Given the description of an element on the screen output the (x, y) to click on. 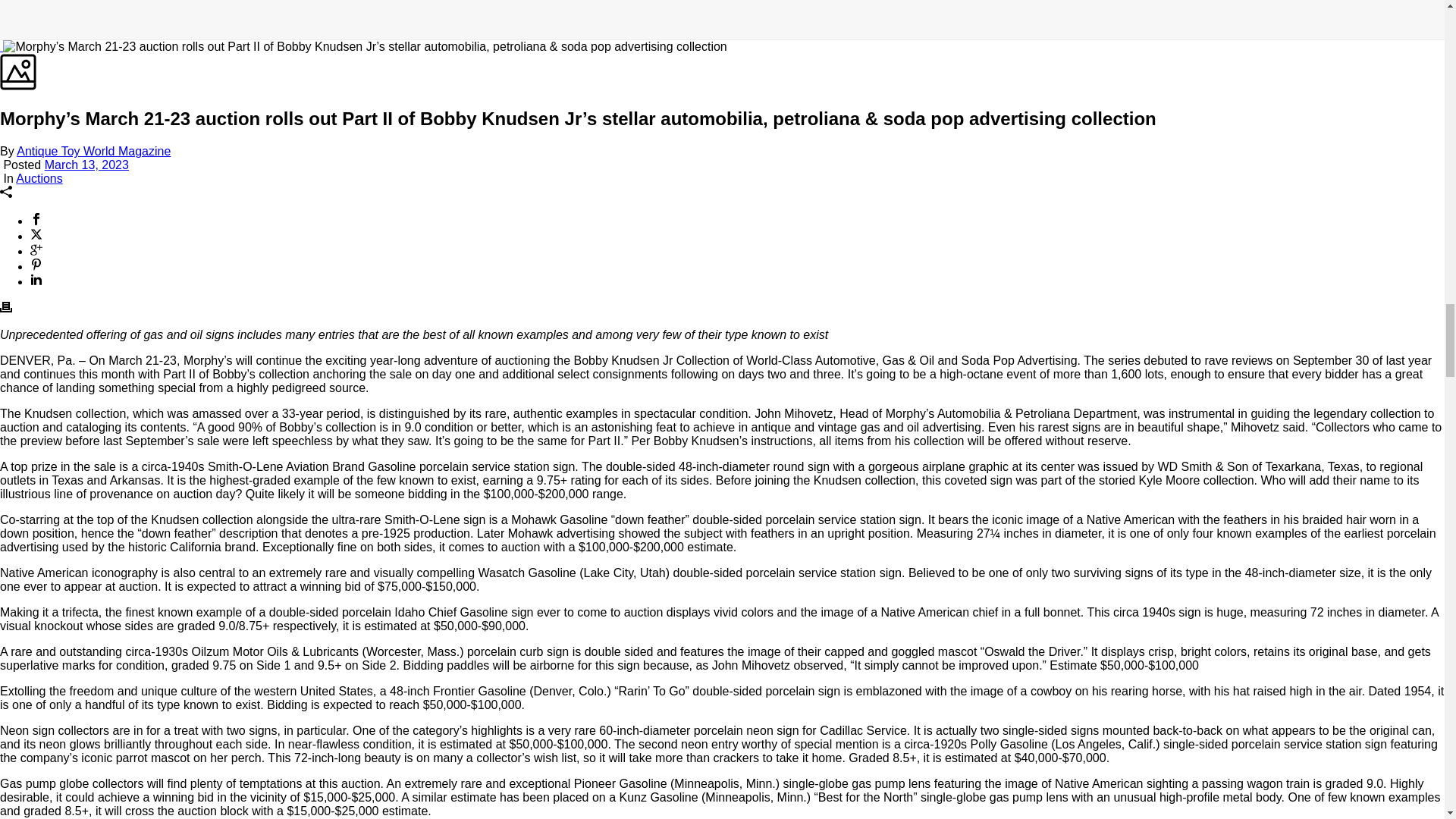
Morphy Live (837, 358)
ANTIQUE TOY WORLD MAGAZINE FOR JULY 2024 (411, 665)
SPOTLIGHT ON COMIC CHARACTER (1031, 665)
Antique Toy World Magazine for July 2024 (411, 570)
Spotlight on Comic Character (1031, 570)
www.morphyauctions.com (1054, 382)
